Given the description of an element on the screen output the (x, y) to click on. 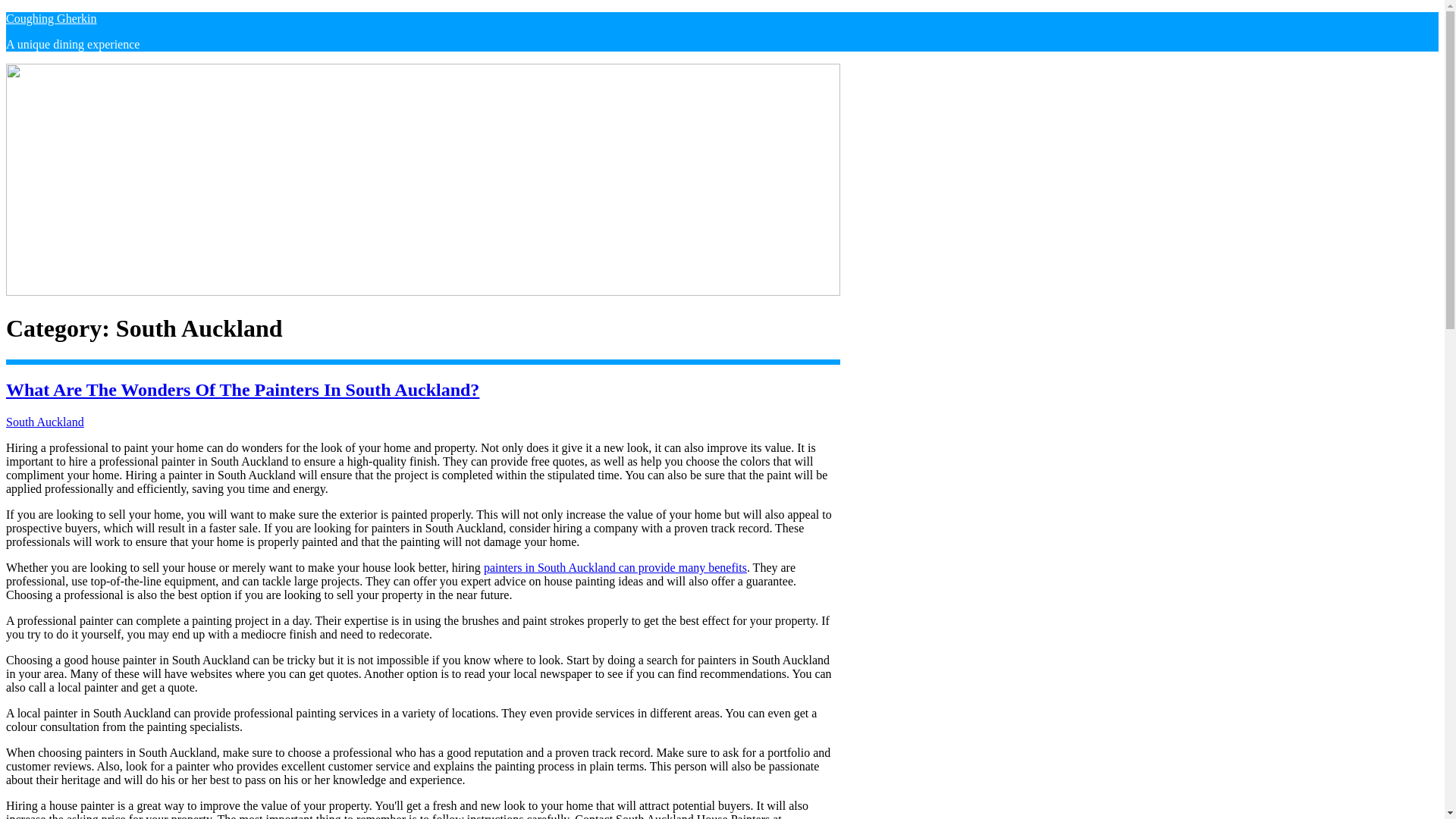
What Are The Wonders Of The Painters In South Auckland? (242, 389)
Coughing Gherkin (51, 18)
South Auckland (44, 421)
painters in South Auckland can provide many benefits (614, 567)
